Given the description of an element on the screen output the (x, y) to click on. 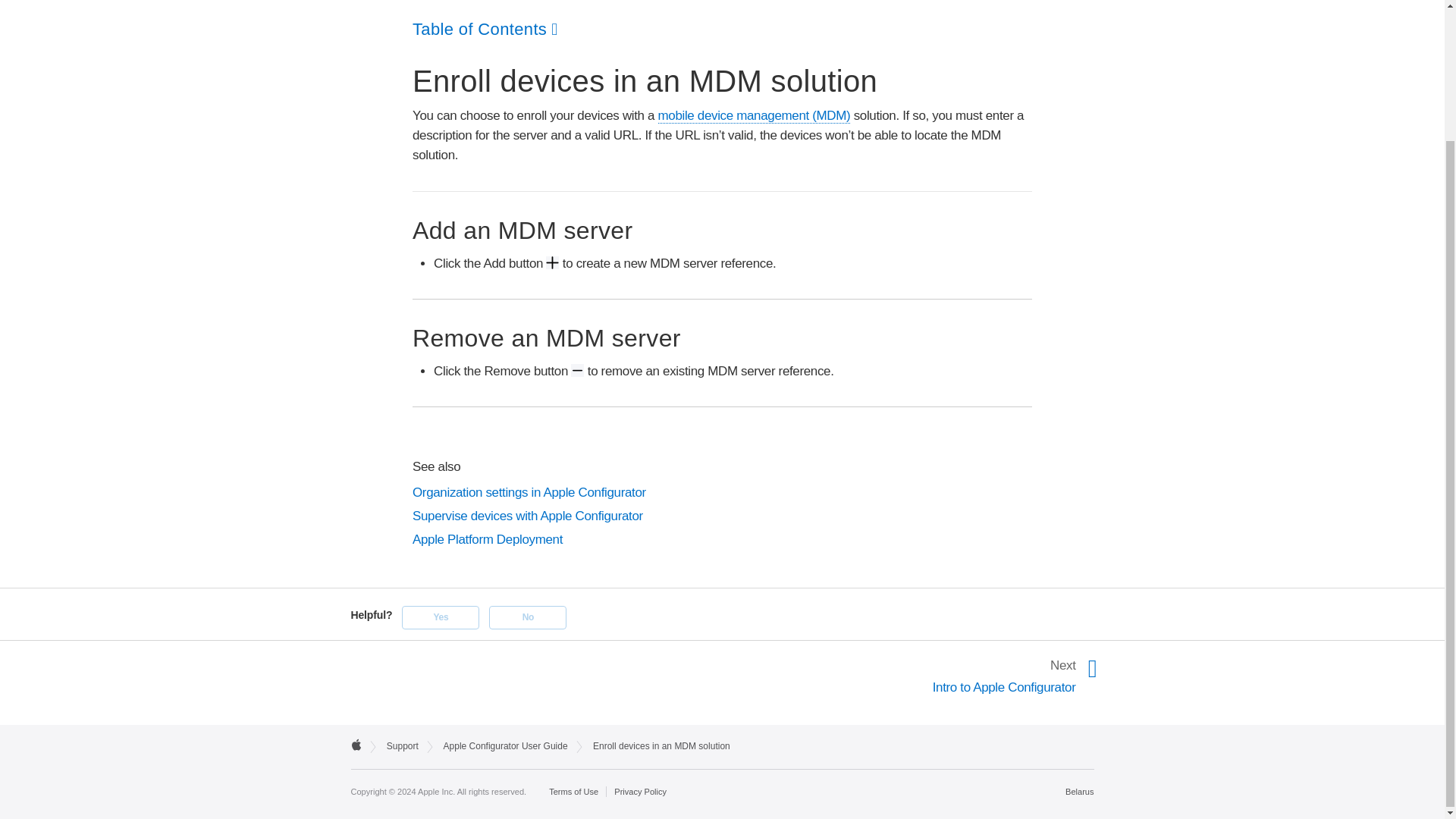
Organization settings in Apple Configurator (722, 492)
Choose your country or region (1079, 791)
Privacy Policy (640, 791)
Solved my problem (440, 617)
Not helpful (527, 617)
Apple Platform Deployment (722, 539)
Support (403, 746)
Apple Configurator User Guide (505, 746)
Belarus (1079, 791)
Yes (440, 617)
